Given the description of an element on the screen output the (x, y) to click on. 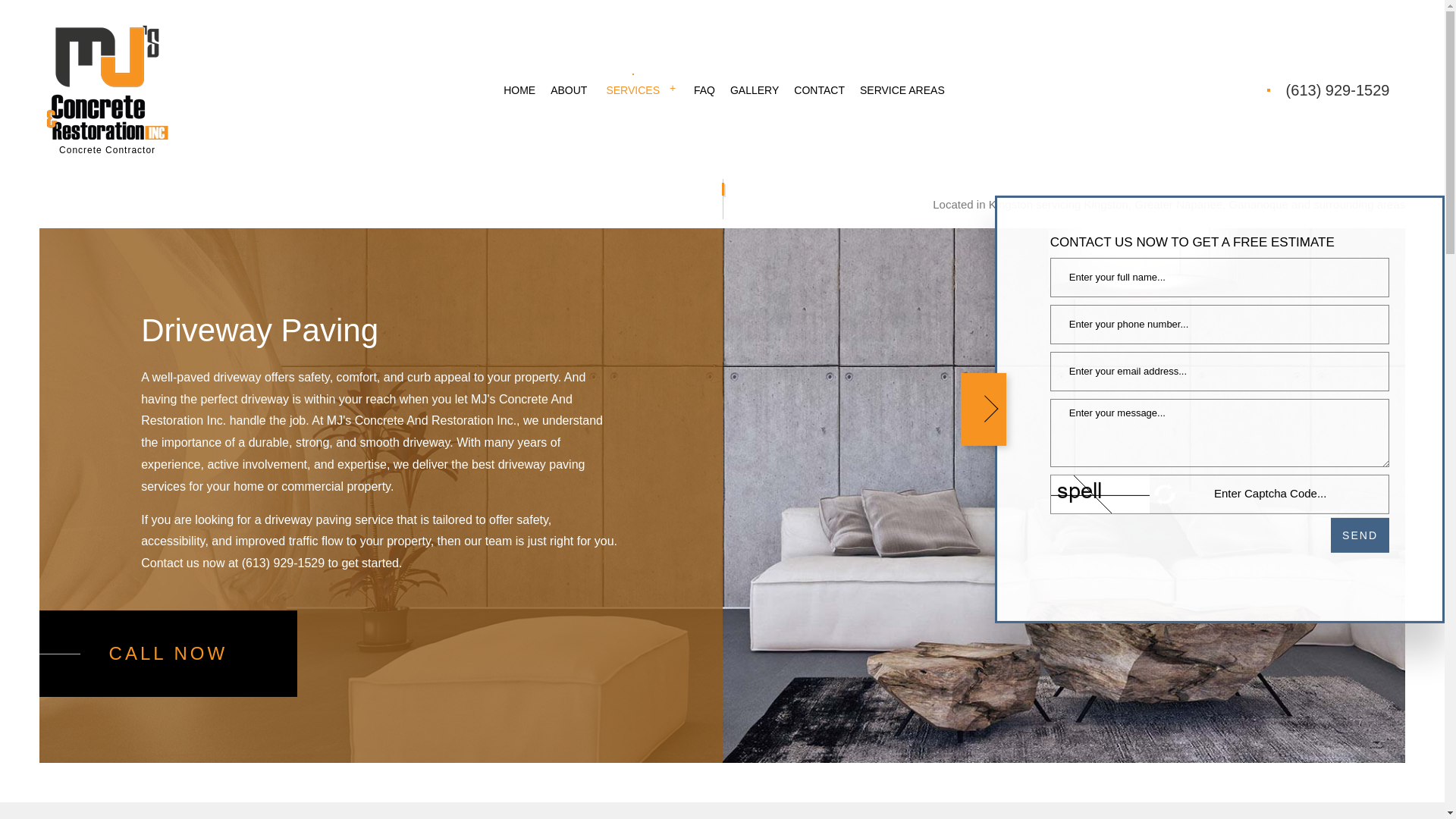
HOME (519, 90)
Full Name (1219, 277)
Your Message (1219, 432)
Email Address (1219, 371)
ABOUT (568, 90)
Phone Number (1219, 323)
Refresh Captcha (1165, 495)
Captcha Code (1286, 492)
